Given the description of an element on the screen output the (x, y) to click on. 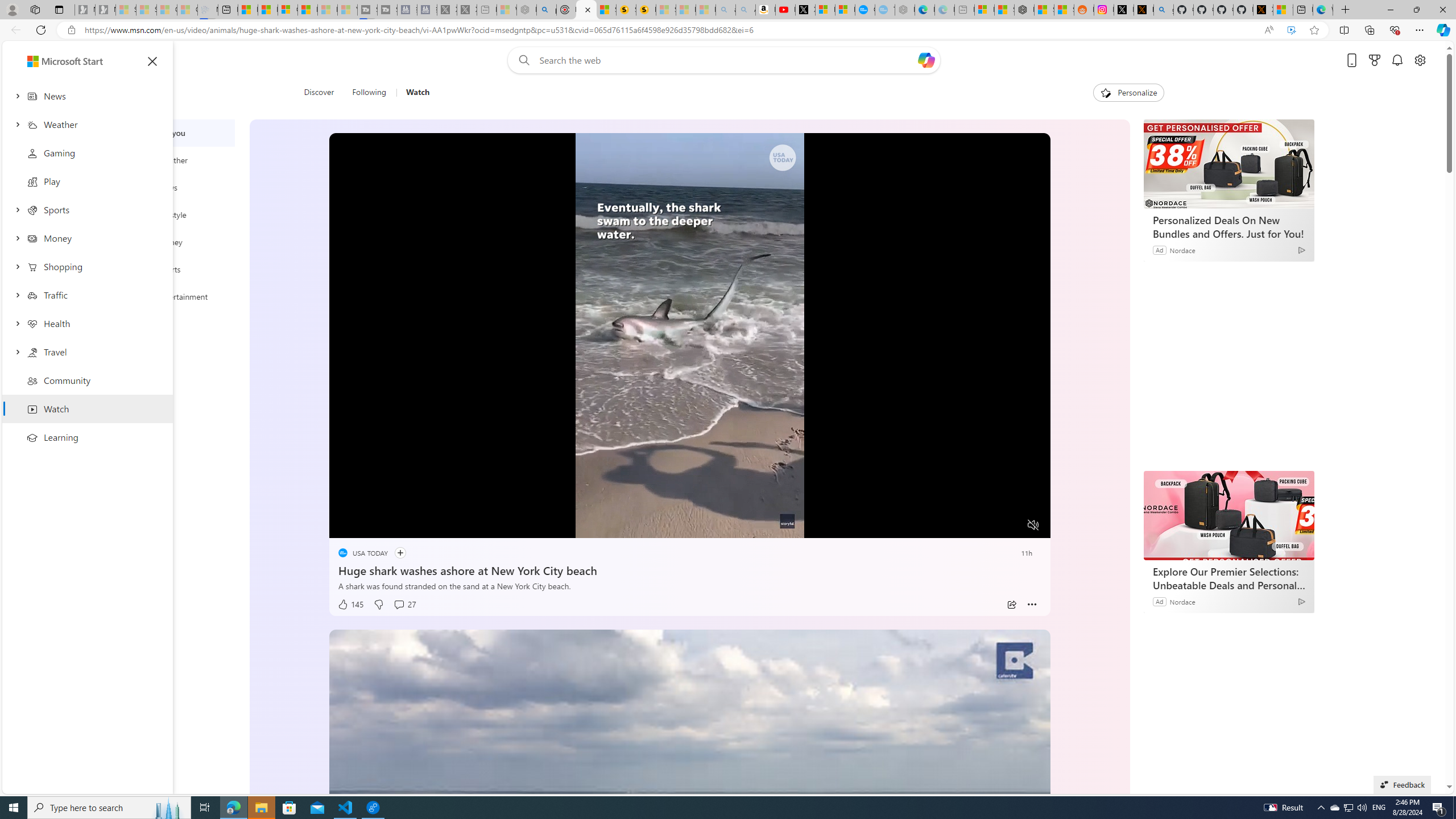
Open Copilot (925, 59)
Share (1010, 604)
New tab - Sleeping (964, 9)
Nordace - Summer Adventures 2024 - Sleeping (526, 9)
To get missing image descriptions, open the context menu. (1105, 92)
amazon - Search - Sleeping (725, 9)
Captions (988, 525)
Open Copilot (926, 59)
App bar (728, 29)
X Privacy Policy (1262, 9)
